Given the description of an element on the screen output the (x, y) to click on. 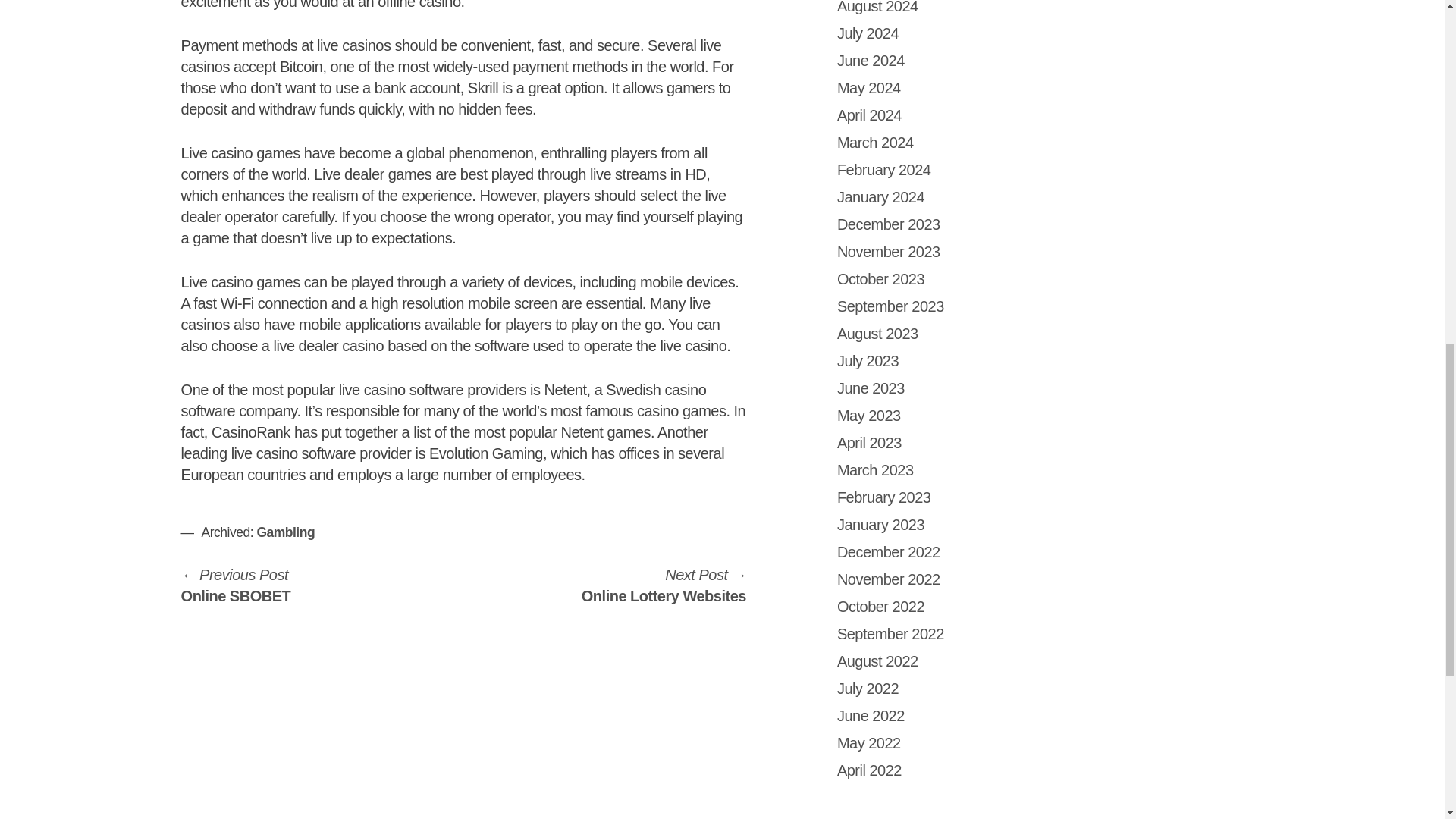
June 2023 (870, 388)
January 2023 (880, 524)
October 2023 (235, 585)
April 2024 (880, 279)
July 2023 (869, 115)
March 2023 (867, 360)
September 2022 (875, 469)
Gambling (890, 633)
May 2023 (285, 531)
June 2024 (869, 415)
October 2022 (870, 60)
November 2022 (880, 606)
January 2024 (888, 579)
February 2023 (880, 197)
